Given the description of an element on the screen output the (x, y) to click on. 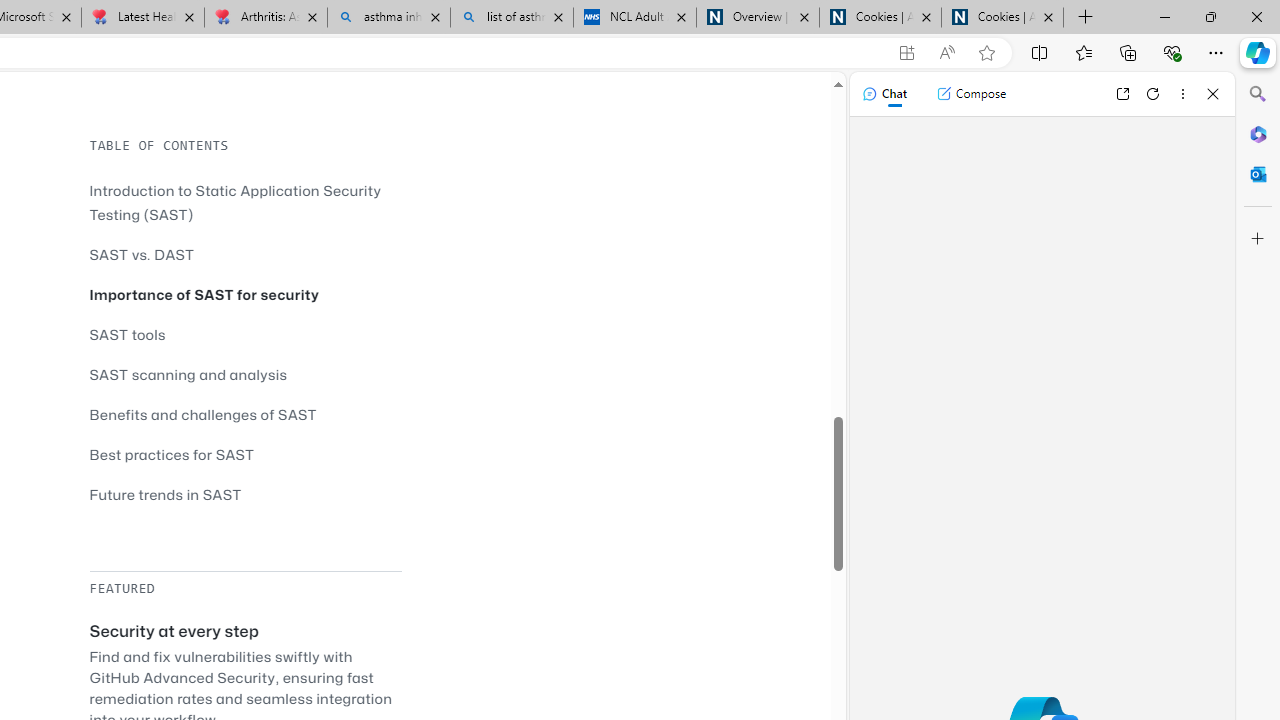
SAST vs. DAST (141, 254)
list of asthma inhalers uk - Search (511, 17)
Chat (884, 93)
Best practices for SAST (171, 453)
App available. Install GitHub (906, 53)
SAST vs. DAST (245, 254)
Introduction to Static Application Security Testing (SAST) (245, 201)
SAST tools (245, 334)
